Given the description of an element on the screen output the (x, y) to click on. 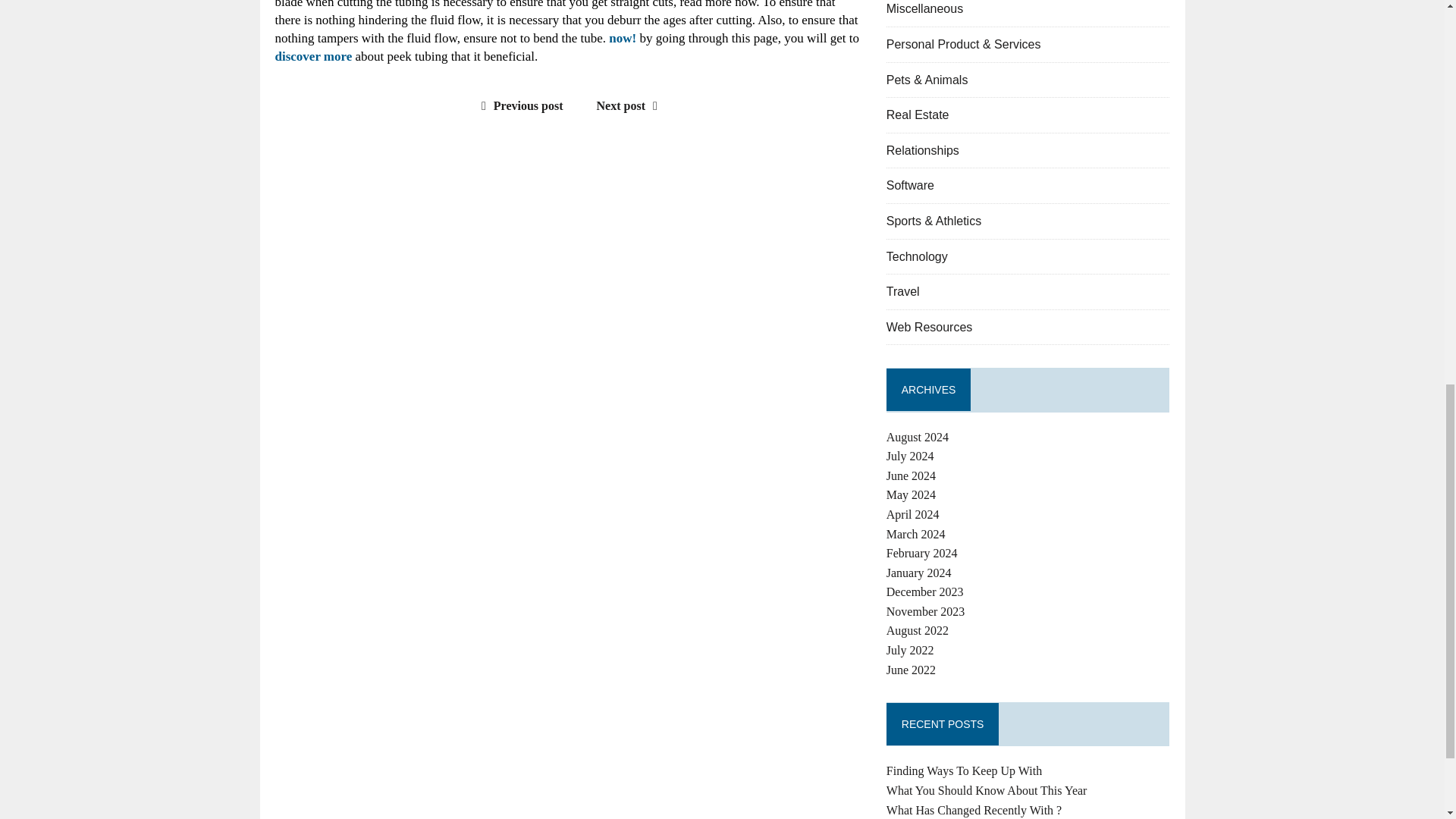
discover more (313, 56)
July 2024 (910, 455)
Previous post (518, 105)
now! (622, 38)
Miscellaneous (924, 8)
Technology (916, 256)
Relationships (922, 150)
Next post (630, 105)
August 2024 (917, 436)
Travel (903, 291)
